Given the description of an element on the screen output the (x, y) to click on. 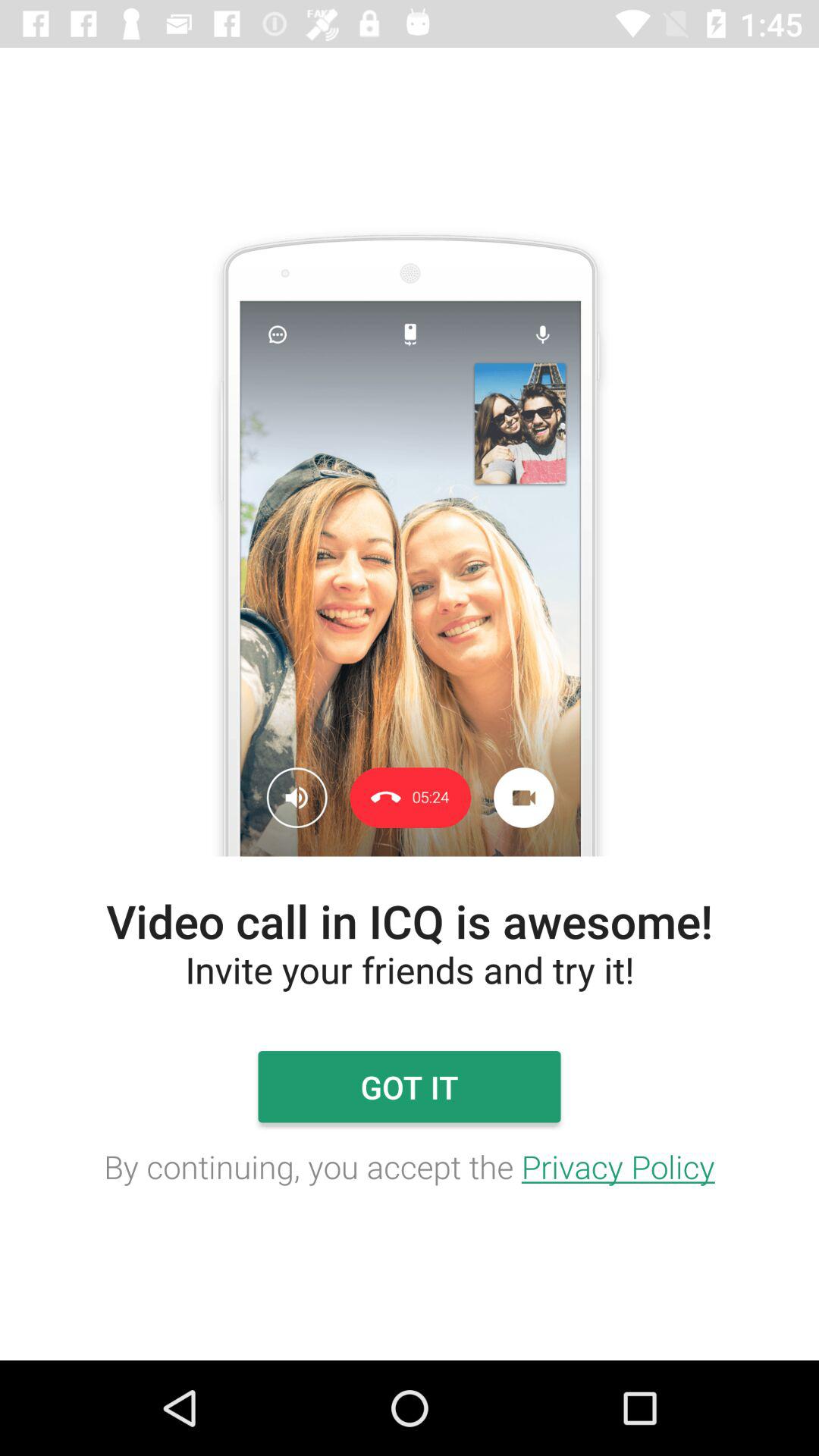
turn on the icon above by continuing you icon (409, 1086)
